Given the description of an element on the screen output the (x, y) to click on. 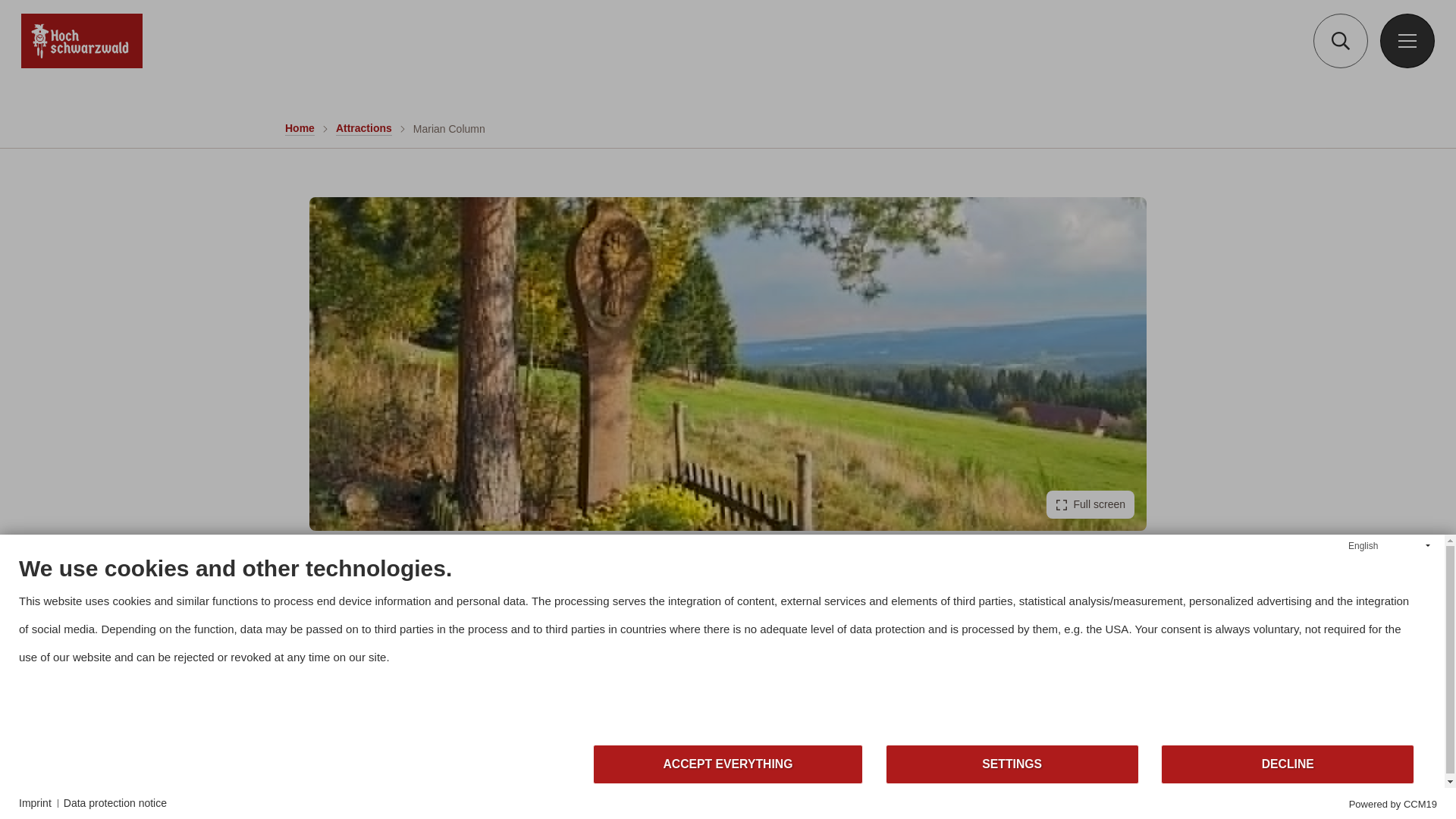
Home (299, 128)
Search (1340, 40)
Attractions (363, 128)
Menu (1407, 40)
